Given the description of an element on the screen output the (x, y) to click on. 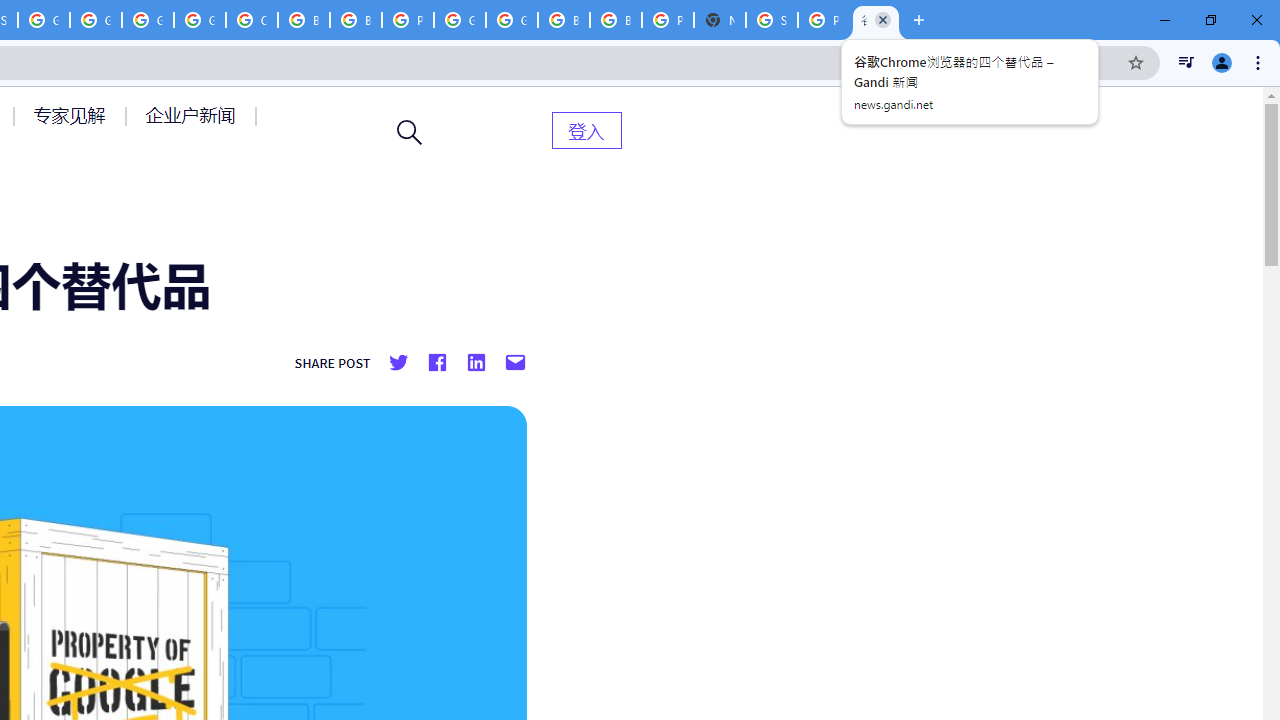
Google Cloud Platform (459, 20)
Share by mail (515, 363)
Share on twitter (397, 363)
Browse Chrome as a guest - Computer - Google Chrome Help (563, 20)
AutomationID: menu-item-77765 (194, 115)
AutomationID: menu-item-77764 (72, 115)
